Given the description of an element on the screen output the (x, y) to click on. 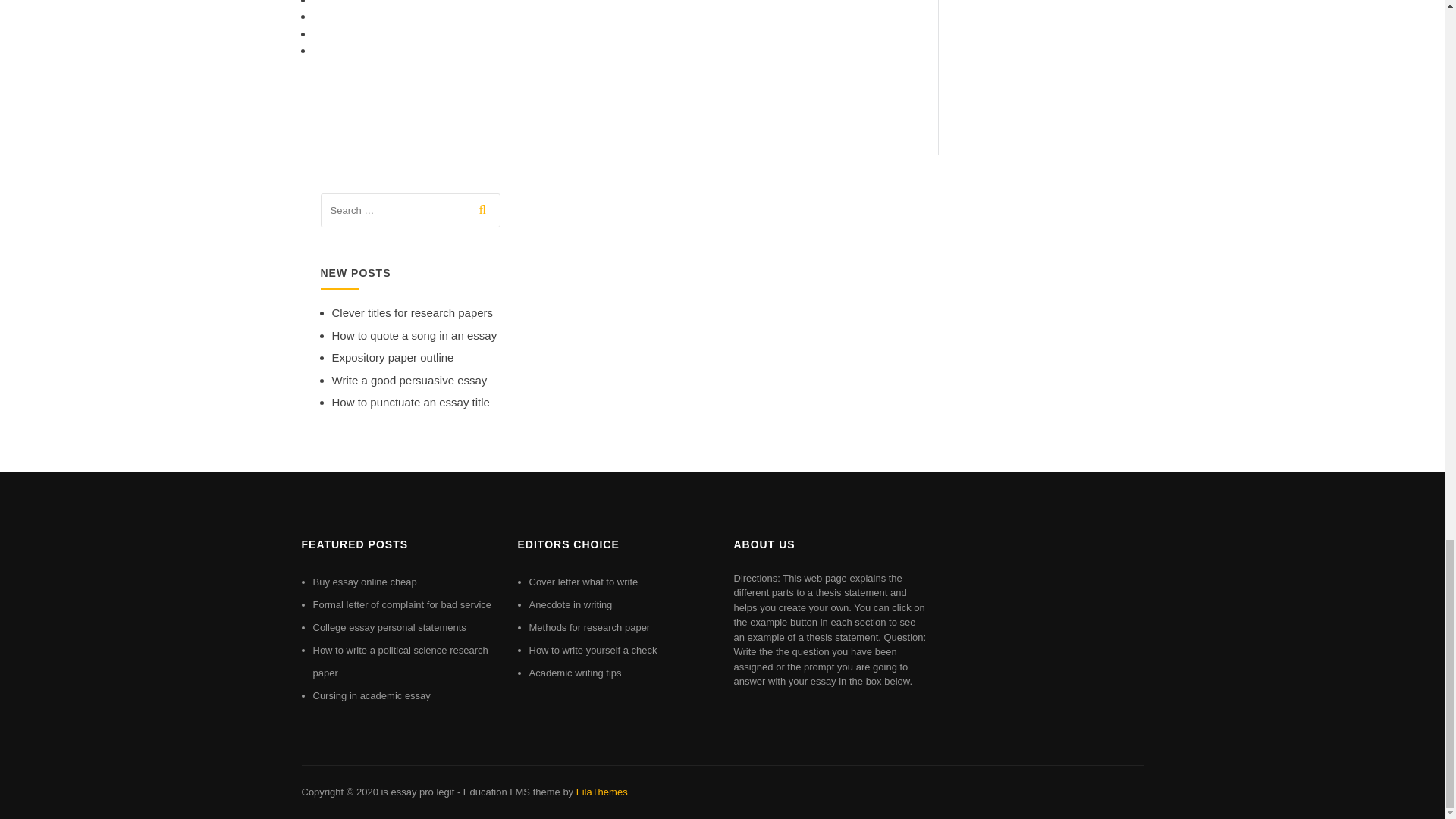
Methods for research paper (589, 627)
Cursing in academic essay (371, 695)
How to write a political science research paper (400, 661)
Write a good persuasive essay (409, 379)
is essay pro legit (417, 791)
College essay personal statements (389, 627)
Formal letter of complaint for bad service (402, 604)
Anecdote in writing (570, 604)
Buy essay online cheap (364, 582)
How to punctuate an essay title (410, 401)
